Given the description of an element on the screen output the (x, y) to click on. 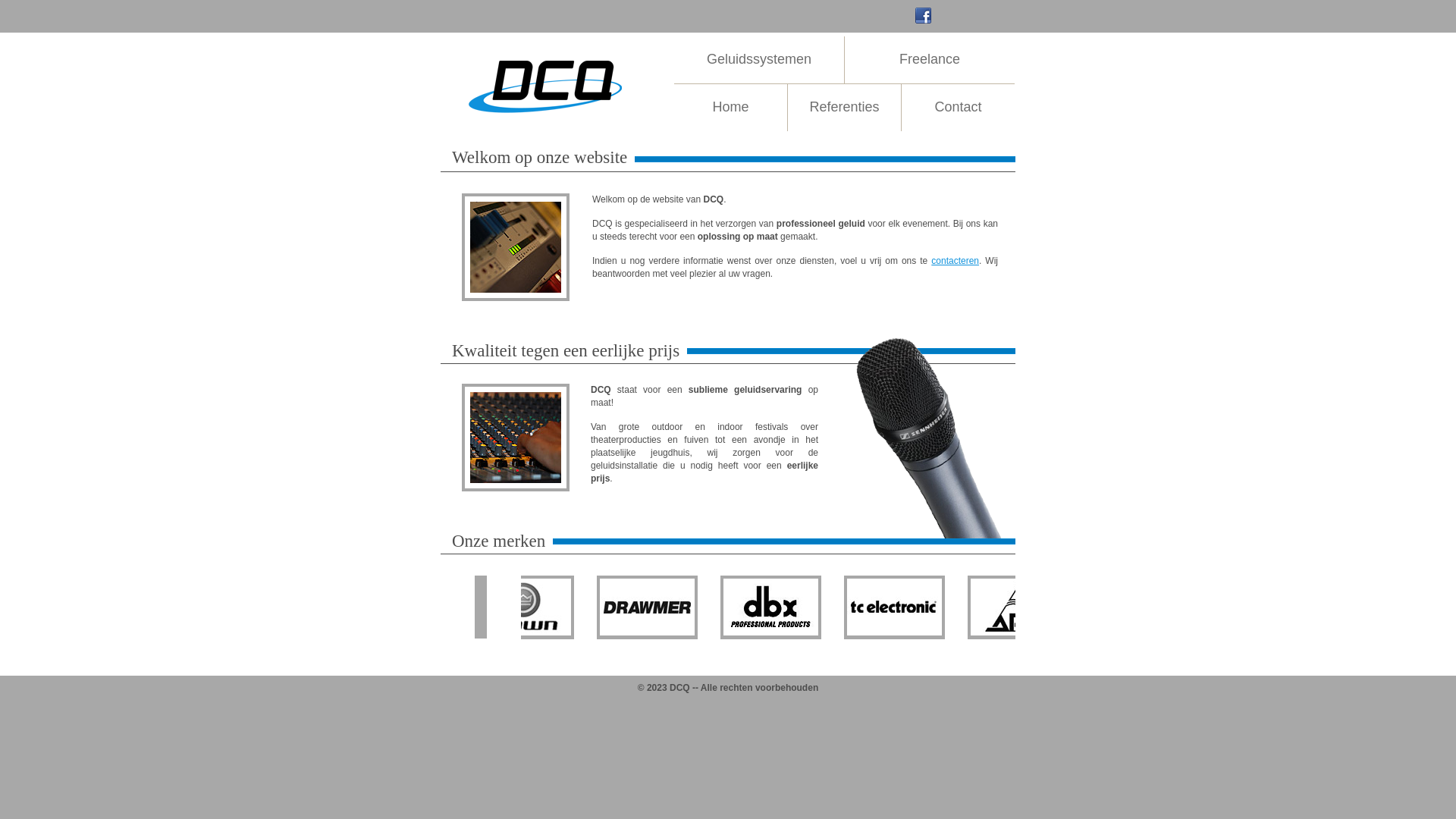
DCQ Sound Geluid Overijse Belgium Element type: hover (546, 83)
Contact Element type: text (957, 107)
Referenties Element type: text (843, 107)
Apex - DCQ Element type: hover (1060, 606)
Crown - DCQ Element type: hover (575, 606)
Welkom - DCQ Sound Engineering Element type: hover (515, 247)
TC Electronic - DCQ Element type: hover (939, 606)
Kwaliteit tegen een eerlijke prijs - DCQ Sound Engineering Element type: hover (515, 437)
contacteren Element type: text (955, 260)
Geluidssystemen Element type: text (759, 59)
Home Element type: text (730, 107)
Freelance Element type: text (929, 59)
DCQ op Facebook Element type: hover (923, 15)
dbx - DCQ Element type: hover (818, 606)
Drawmer - DCQ Element type: hover (696, 606)
